Given the description of an element on the screen output the (x, y) to click on. 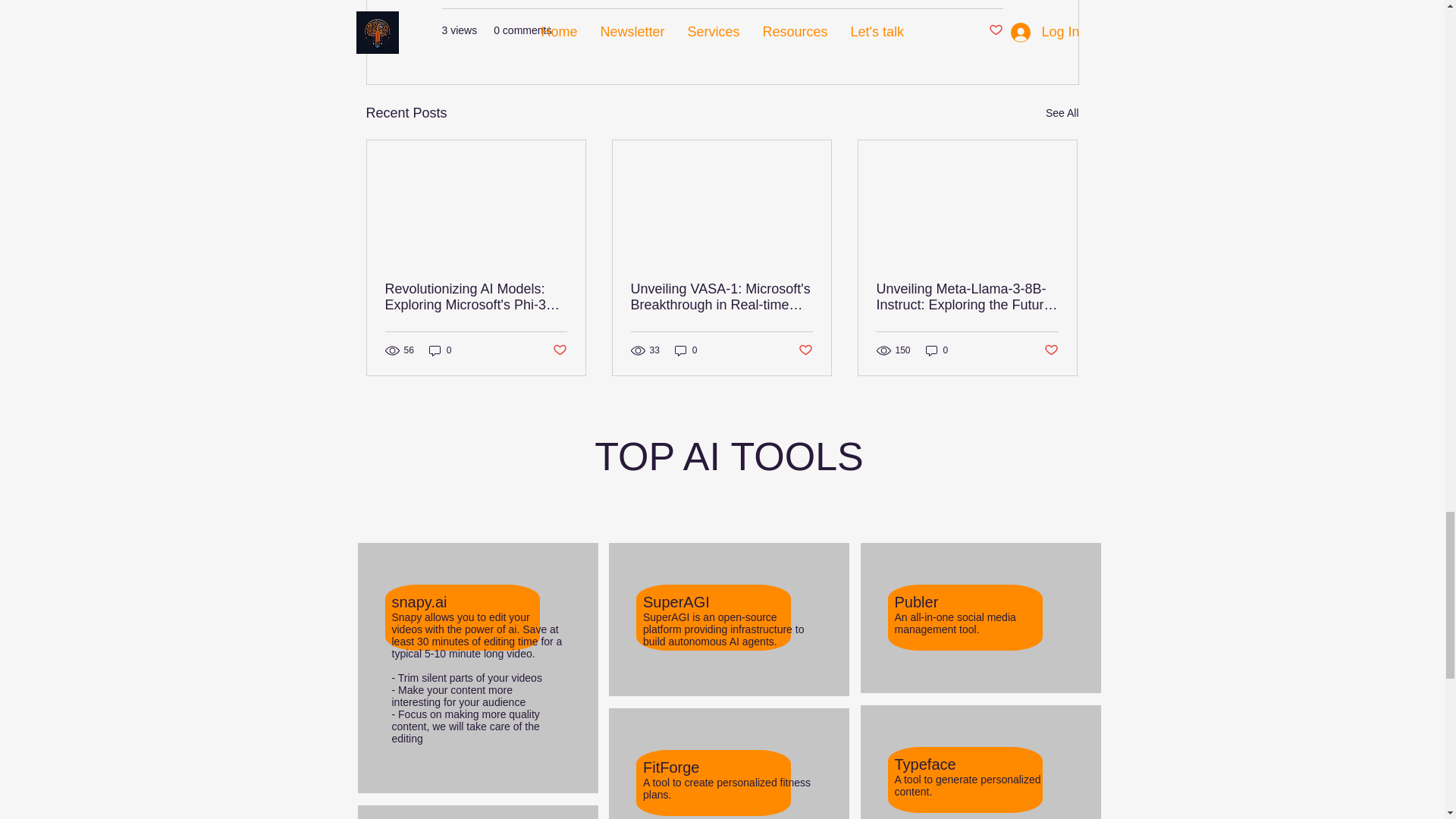
Post not marked as liked (995, 30)
See All (1061, 113)
